Given the description of an element on the screen output the (x, y) to click on. 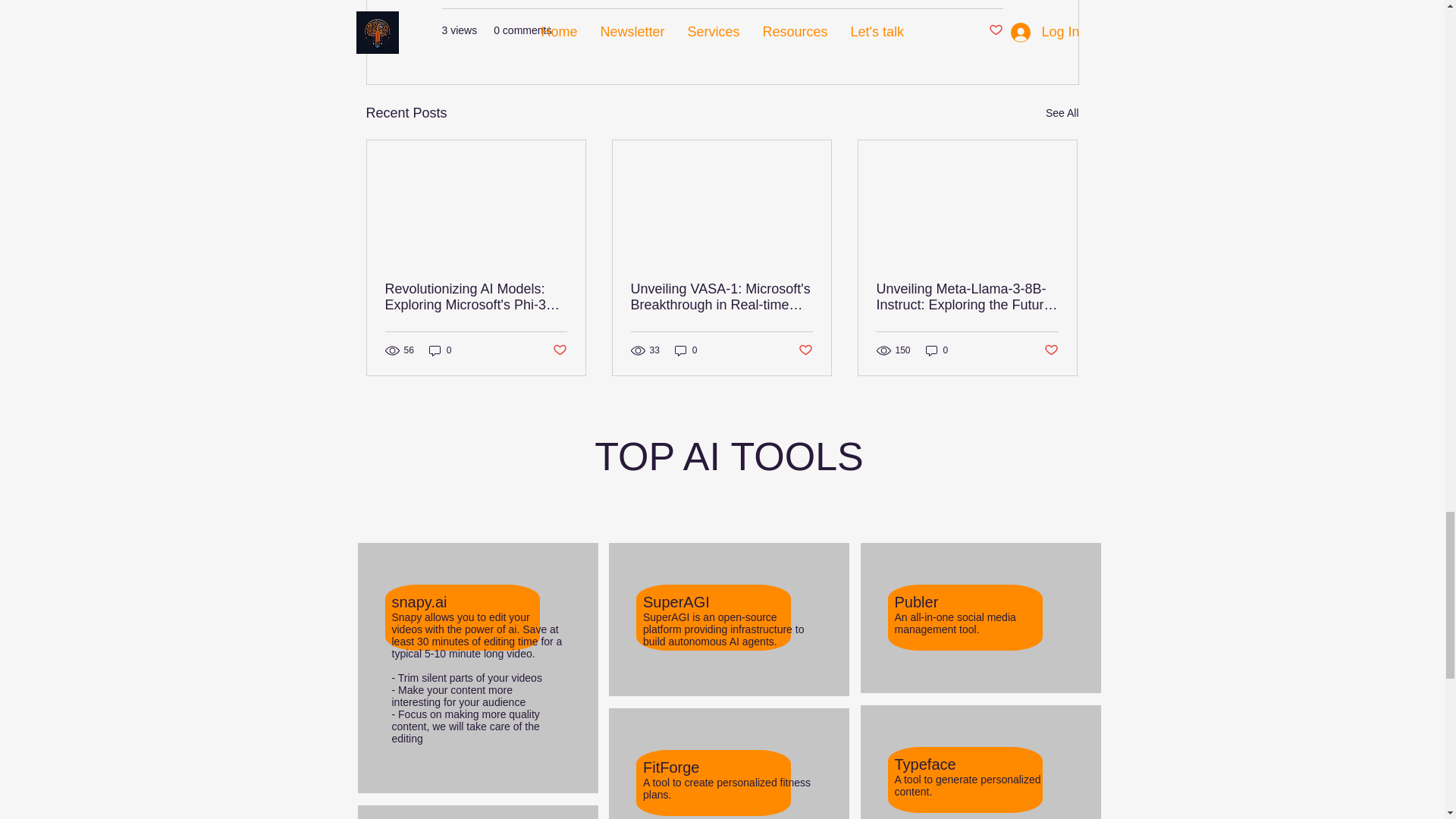
Post not marked as liked (995, 30)
See All (1061, 113)
